Given the description of an element on the screen output the (x, y) to click on. 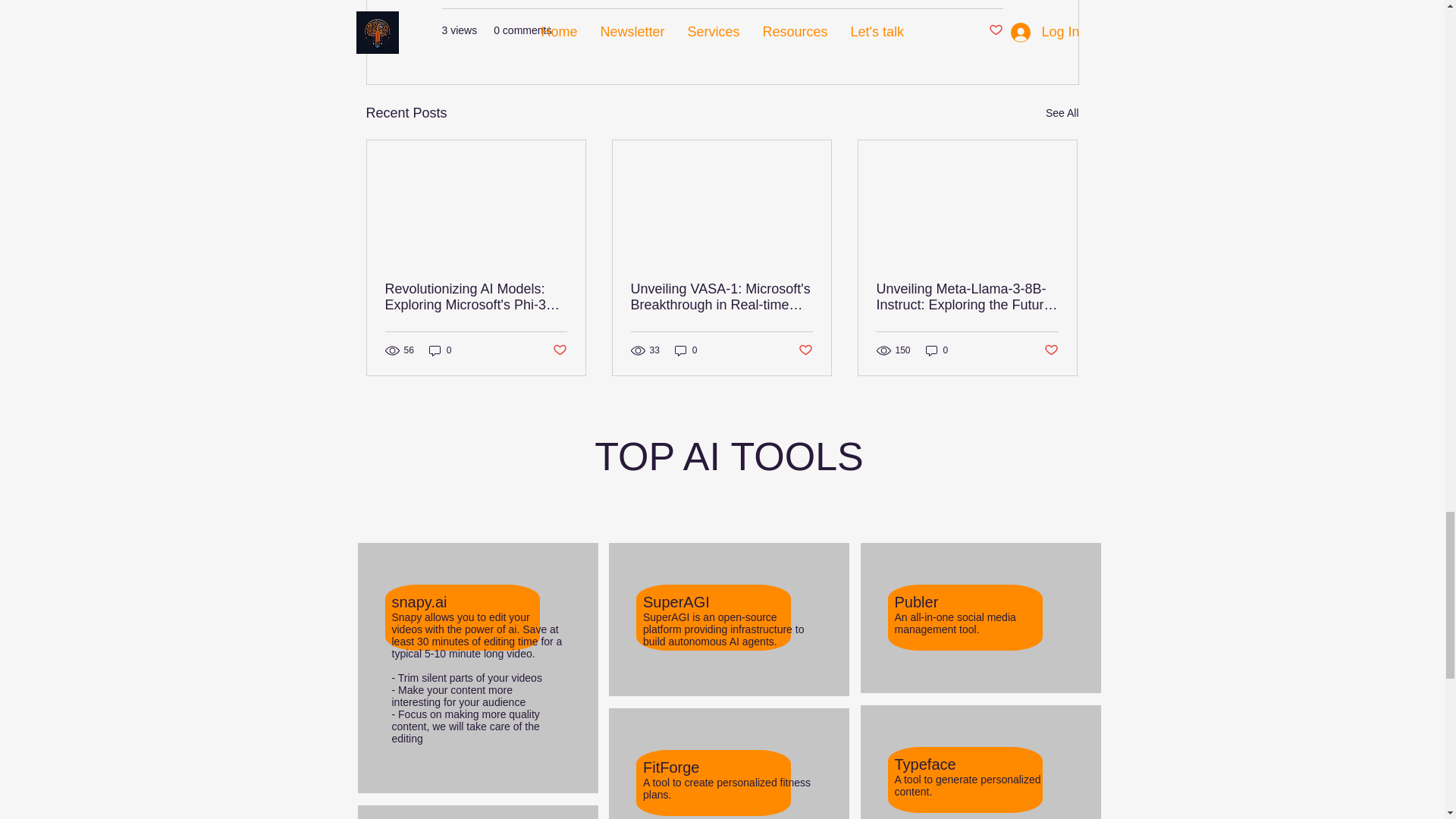
Post not marked as liked (995, 30)
See All (1061, 113)
